Given the description of an element on the screen output the (x, y) to click on. 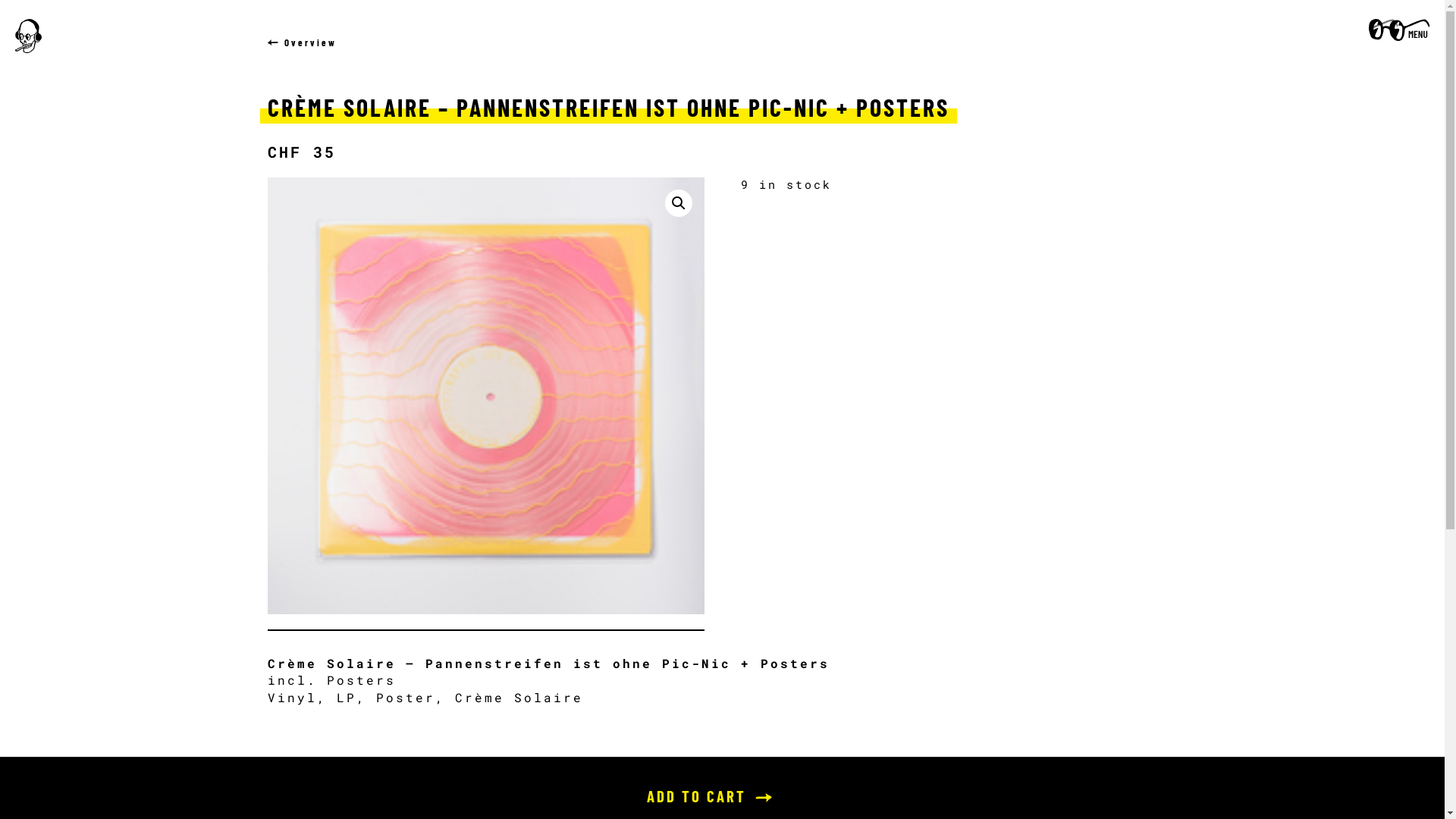
Overview Element type: text (300, 43)
shop_creme1 Element type: hover (484, 395)
